Given the description of an element on the screen output the (x, y) to click on. 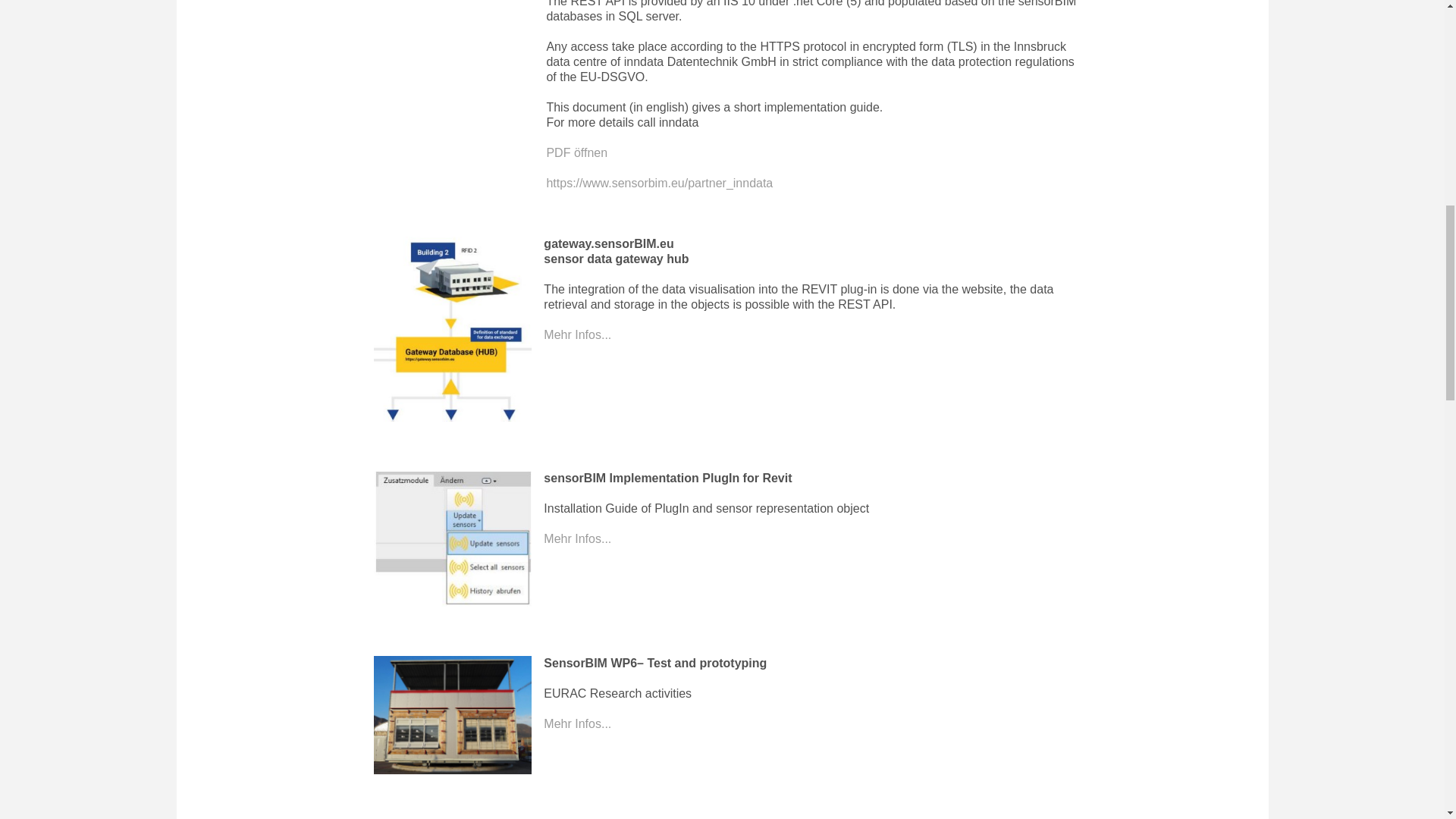
1130 kByte (576, 152)
Mehr Infos... (577, 723)
Mehr Infos... (577, 334)
Mehr Infos... (577, 538)
